Given the description of an element on the screen output the (x, y) to click on. 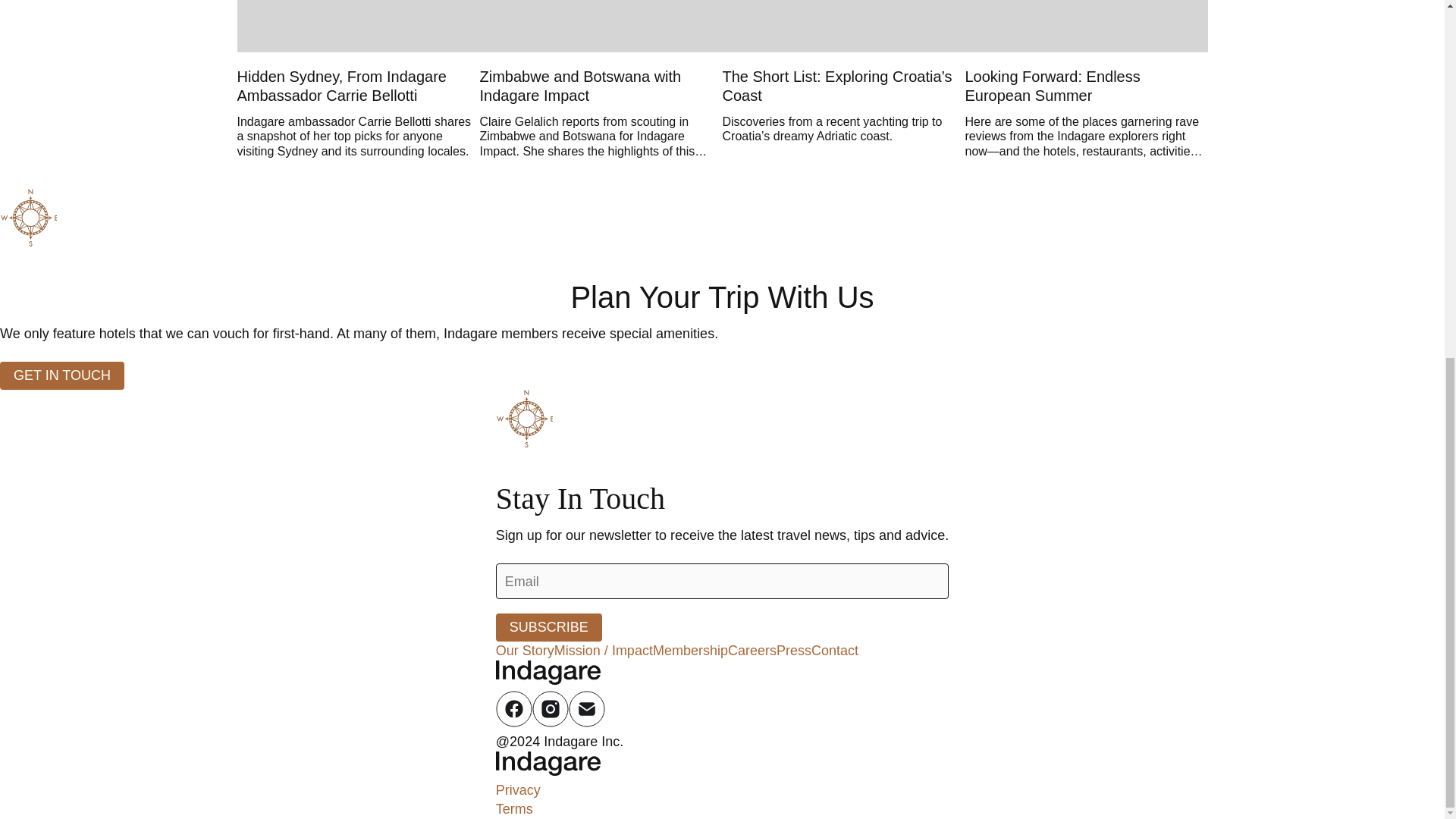
Careers (752, 650)
SUBSCRIBE (549, 627)
Terms (514, 808)
Our Story (525, 650)
Contact (834, 650)
Press (793, 650)
GET IN TOUCH (61, 375)
Membership (690, 650)
Privacy (518, 789)
